Given the description of an element on the screen output the (x, y) to click on. 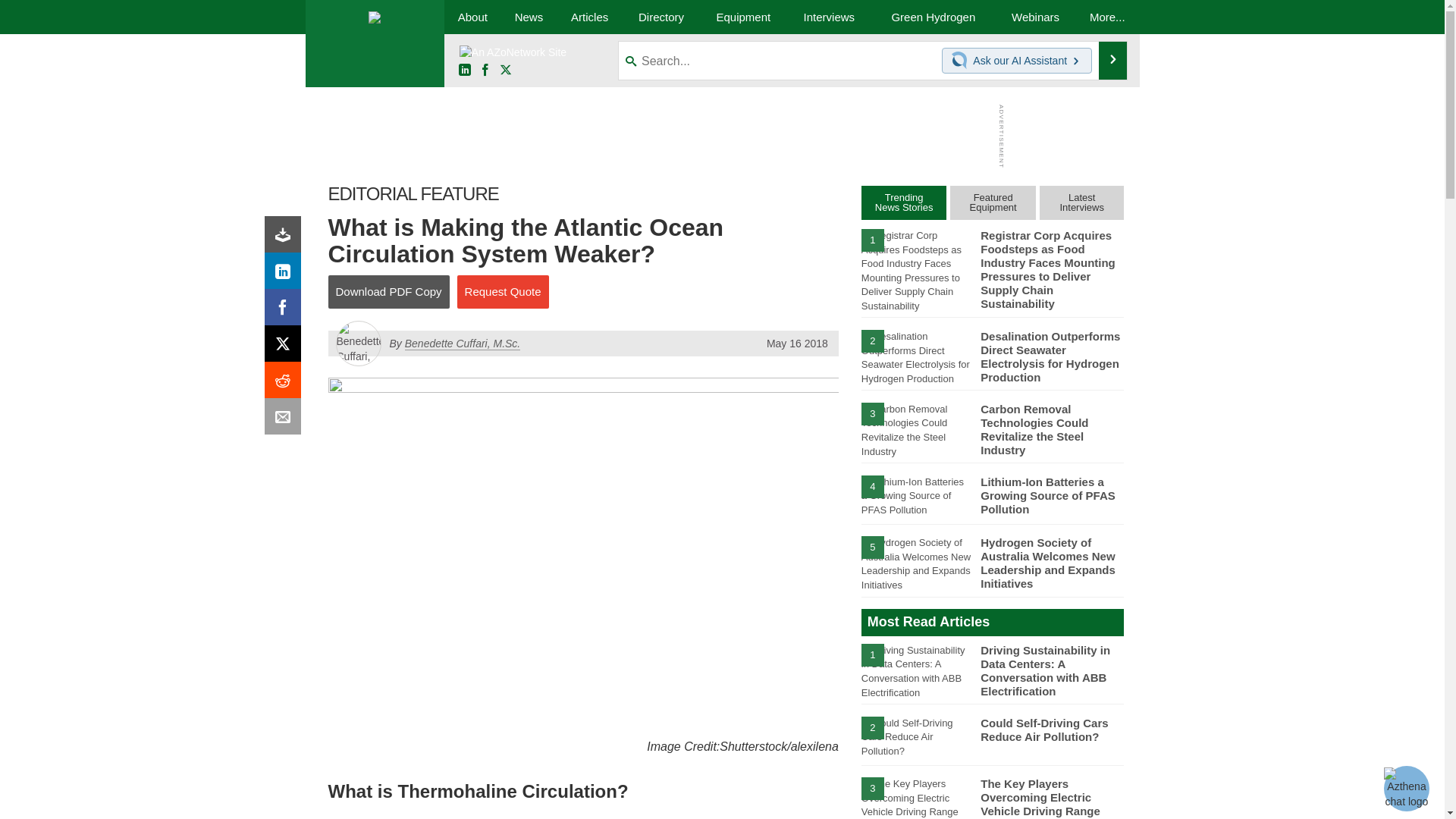
Chat with our AI Assistant (962, 60)
About (472, 17)
X (505, 70)
LinkedIn (464, 70)
Facebook (485, 70)
More... (1106, 17)
Webinars (1035, 17)
Green Hydrogen (932, 17)
Directory (660, 17)
Chat with our AI Assistant Ask our AI Assistant (1017, 60)
Email (285, 420)
Equipment (742, 17)
Download PDF copy (285, 238)
Reddit (285, 384)
Interviews (828, 17)
